Given the description of an element on the screen output the (x, y) to click on. 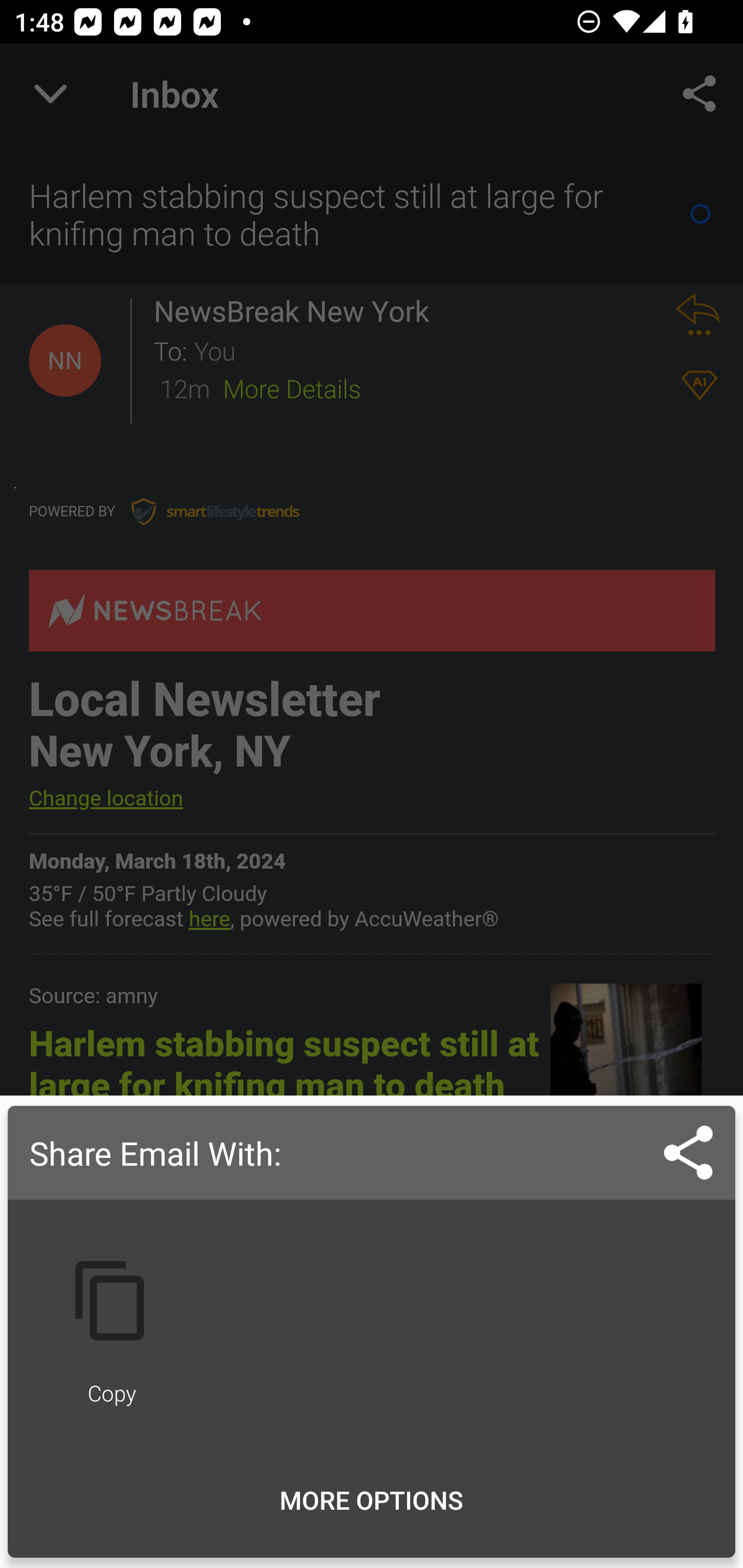
Copy (111, 1327)
MORE OPTIONS (371, 1499)
